Given the description of an element on the screen output the (x, y) to click on. 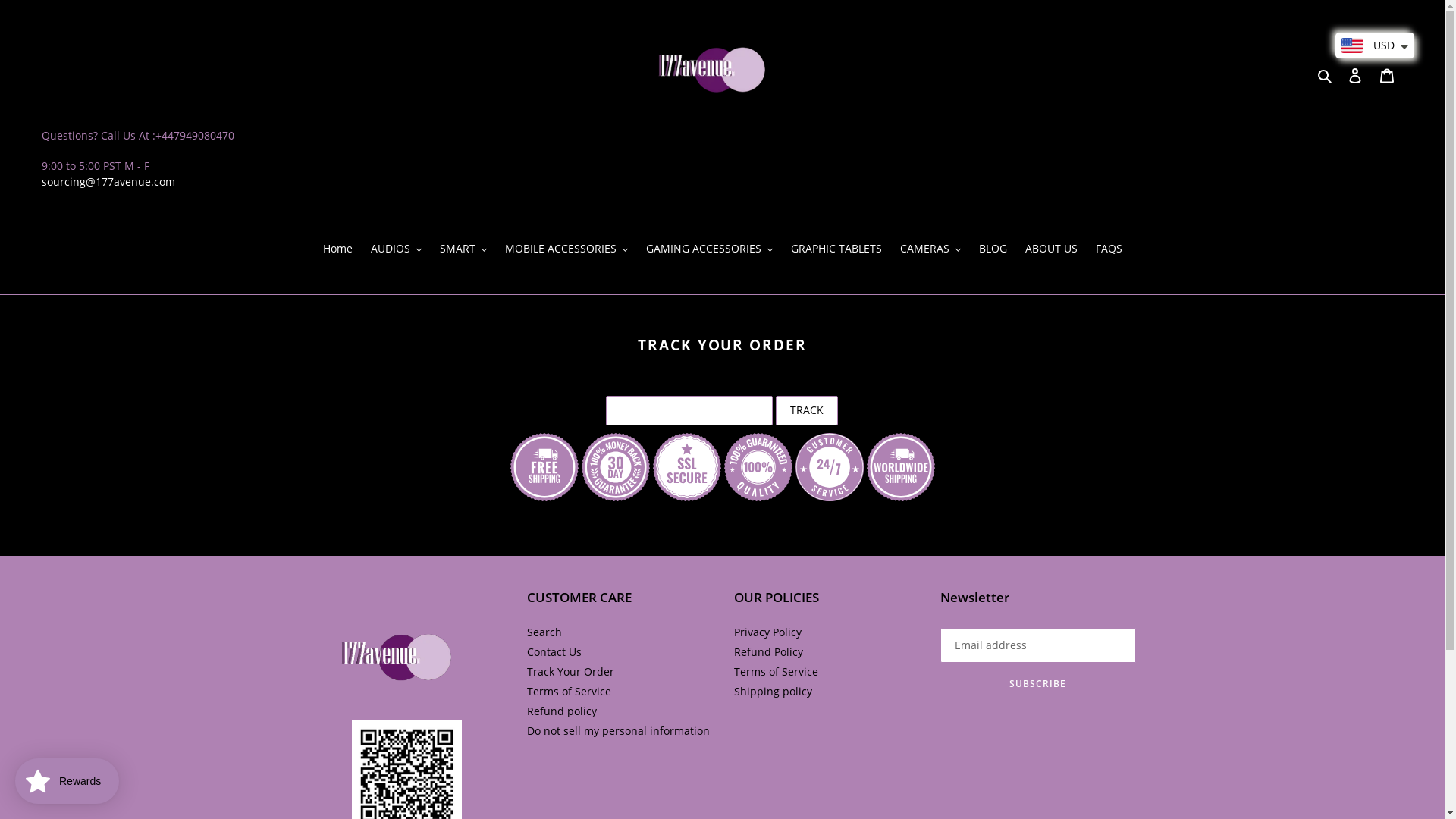
Refund policy Element type: text (561, 710)
sourcing@177avenue.com Element type: text (108, 181)
Home Element type: text (337, 249)
MOBILE ACCESSORIES Element type: text (566, 249)
Refund Policy Element type: text (768, 651)
TRACK Element type: text (806, 410)
SUBSCRIBE Element type: text (1037, 683)
Shipping policy Element type: text (773, 691)
Terms of Service Element type: text (569, 691)
Track Your Order Element type: text (570, 671)
SMART Element type: text (463, 249)
BLOG Element type: text (991, 249)
Search Element type: text (1325, 74)
GRAPHIC TABLETS Element type: text (835, 249)
AUDIOS Element type: text (395, 249)
GAMING ACCESSORIES Element type: text (709, 249)
Do not sell my personal information Element type: text (618, 730)
Terms of Service Element type: text (776, 671)
Log in Element type: text (1355, 75)
Cart Element type: text (1386, 75)
Search Element type: text (544, 631)
ABOUT US Element type: text (1051, 249)
FAQS Element type: text (1108, 249)
Contact Us Element type: text (554, 651)
Privacy Policy Element type: text (767, 631)
CAMERAS Element type: text (929, 249)
